Given the description of an element on the screen output the (x, y) to click on. 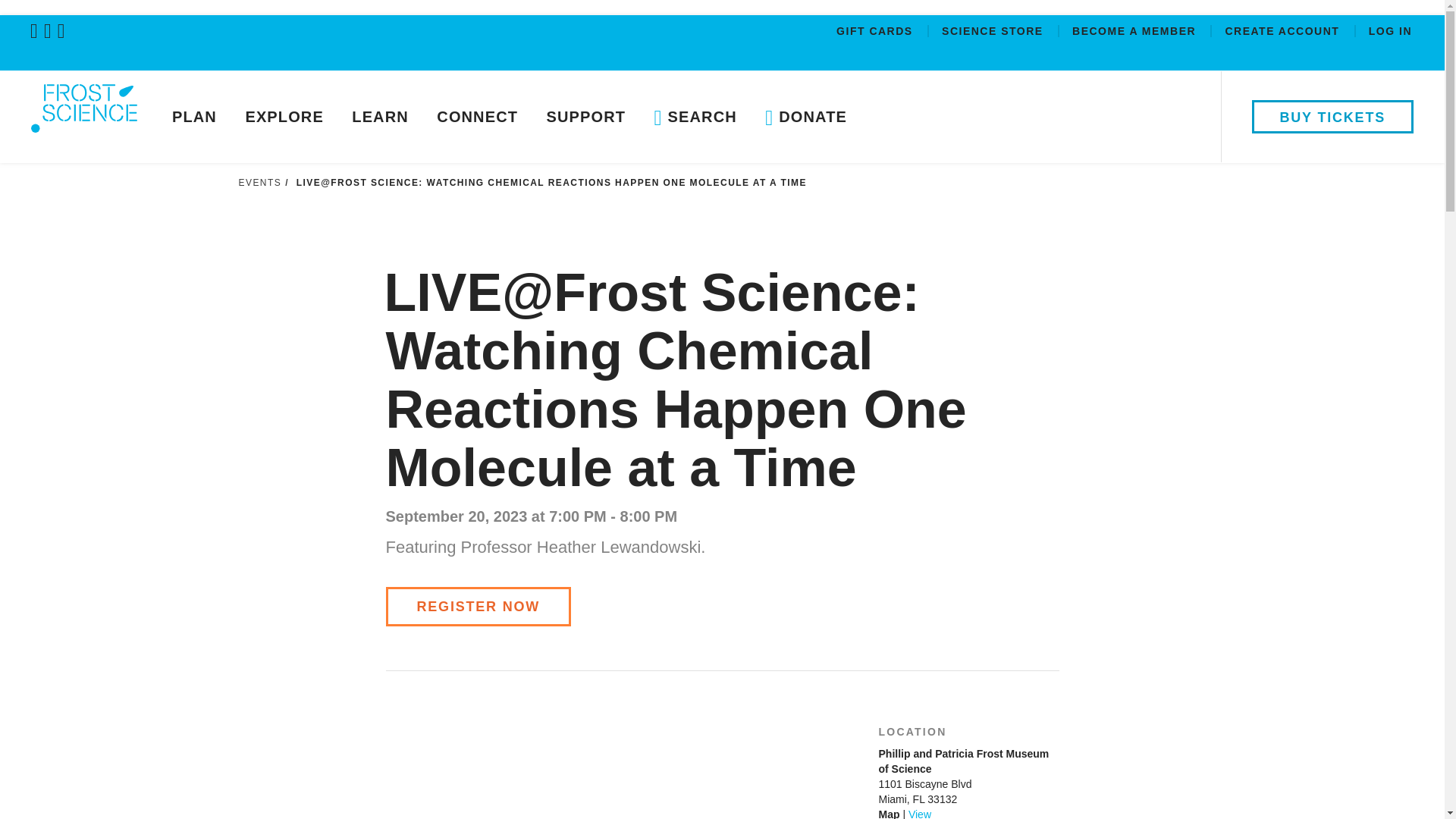
Gift Cards (876, 32)
LEARN (380, 116)
Connect on Instagram (64, 30)
GIFT CARDS (876, 32)
CREATE ACCOUNT (1283, 32)
Create account (1283, 32)
Connect on Twitter (36, 30)
CONNECT (477, 116)
Frost Science (83, 119)
Log in (1390, 32)
